Given the description of an element on the screen output the (x, y) to click on. 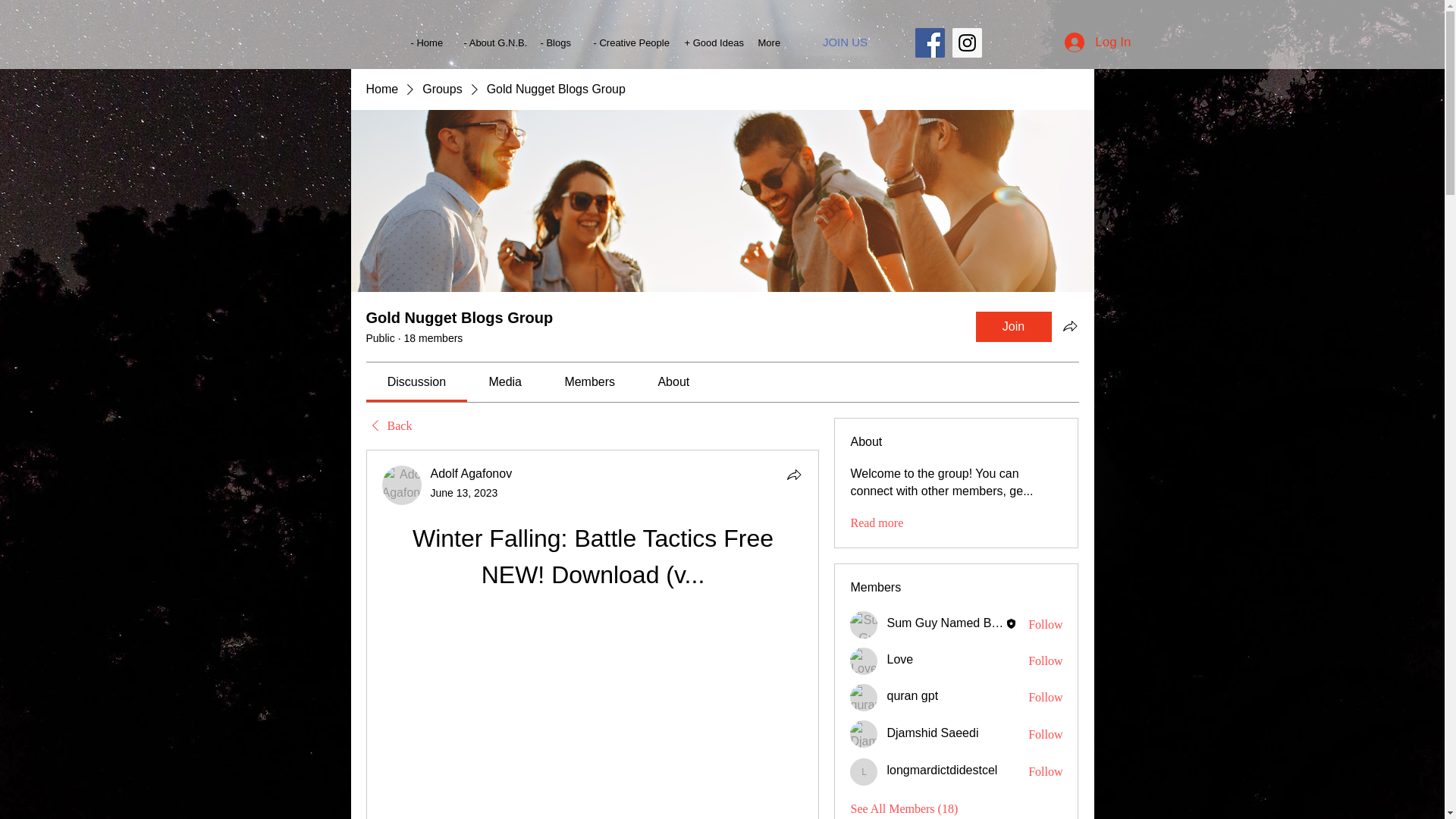
quran gpt (911, 695)
Join (1013, 327)
Follow (1044, 660)
Adolf Agafonov (401, 485)
Home (381, 89)
Follow (1044, 624)
Follow (1044, 697)
Djamshid Saeedi (863, 733)
June 13, 2023 (463, 492)
Love (863, 660)
- Creative People (627, 42)
Sum Guy Named Bryan (863, 624)
Follow (1044, 734)
- About G.N.B. (489, 42)
Back (388, 425)
